Given the description of an element on the screen output the (x, y) to click on. 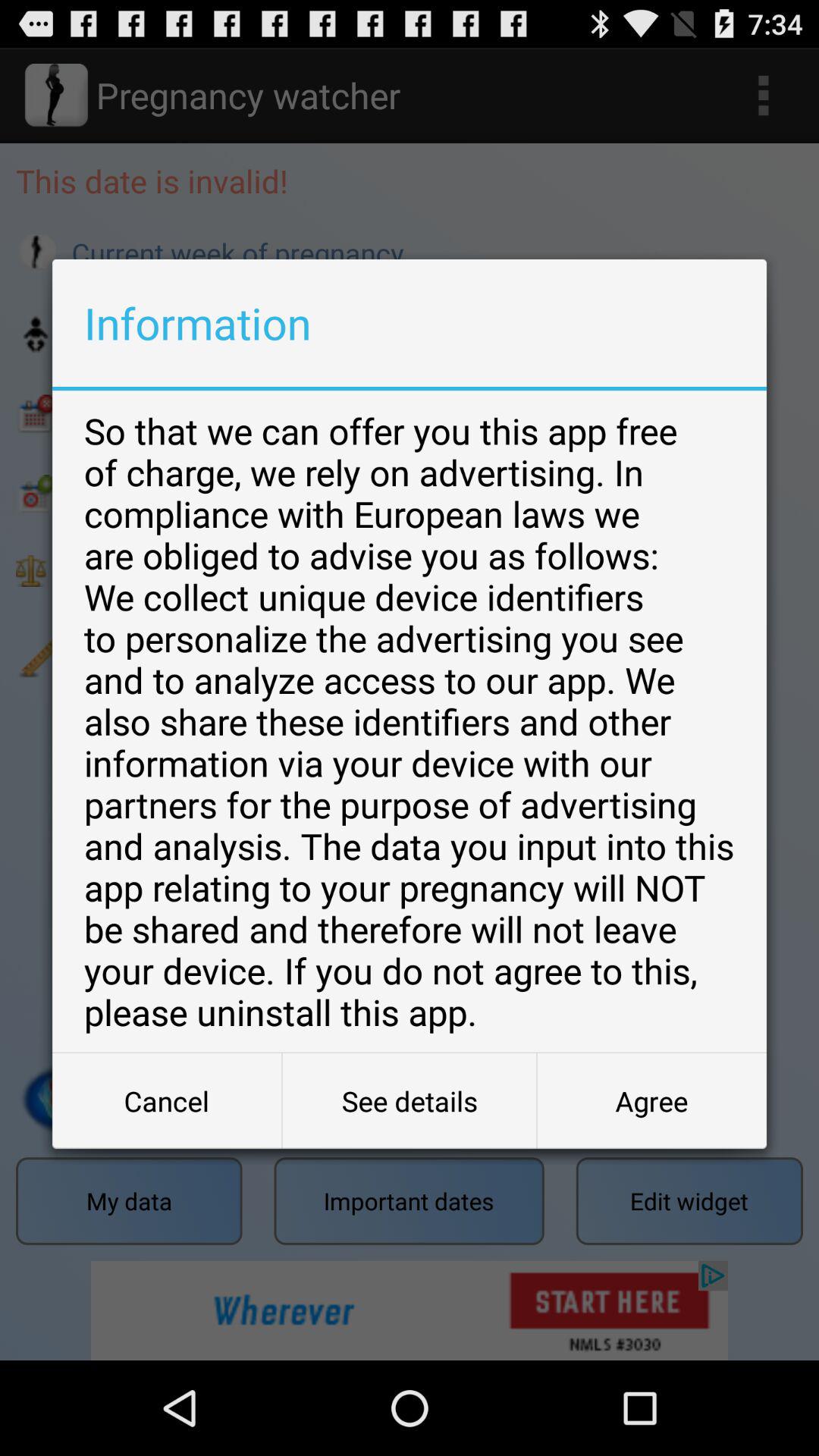
turn off item below so that we icon (166, 1100)
